Given the description of an element on the screen output the (x, y) to click on. 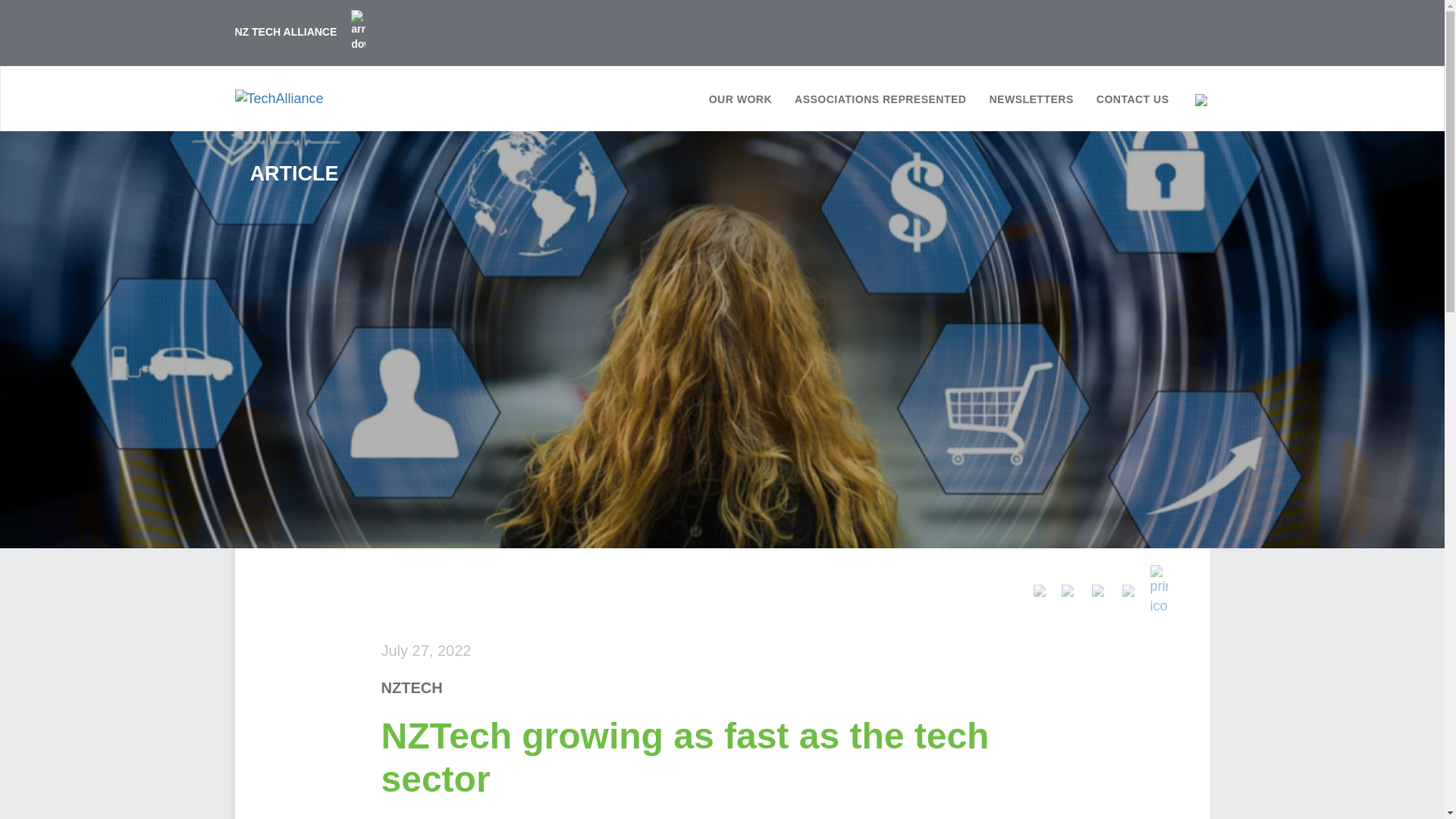
OUR WORK (740, 104)
NEWSLETTERS (1030, 104)
Print this page (1158, 590)
ASSOCIATIONS REPRESENTED (879, 104)
TechAlliance (278, 98)
CONTACT US (1132, 104)
